Given the description of an element on the screen output the (x, y) to click on. 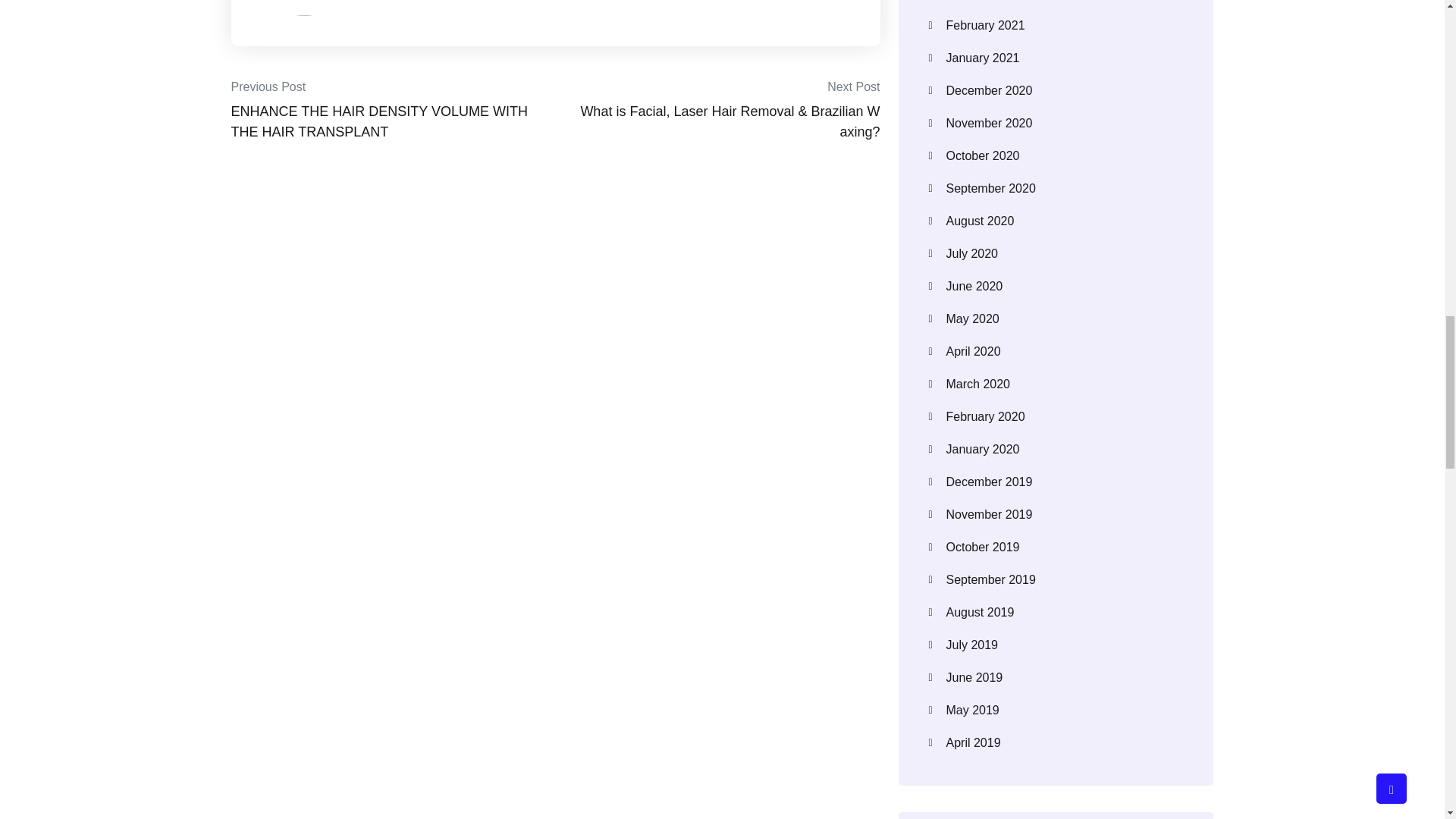
Previous Post (267, 86)
Posts by Elizabeth S. Johnson (418, 5)
Elizabeth S. Johnson (418, 5)
